Given the description of an element on the screen output the (x, y) to click on. 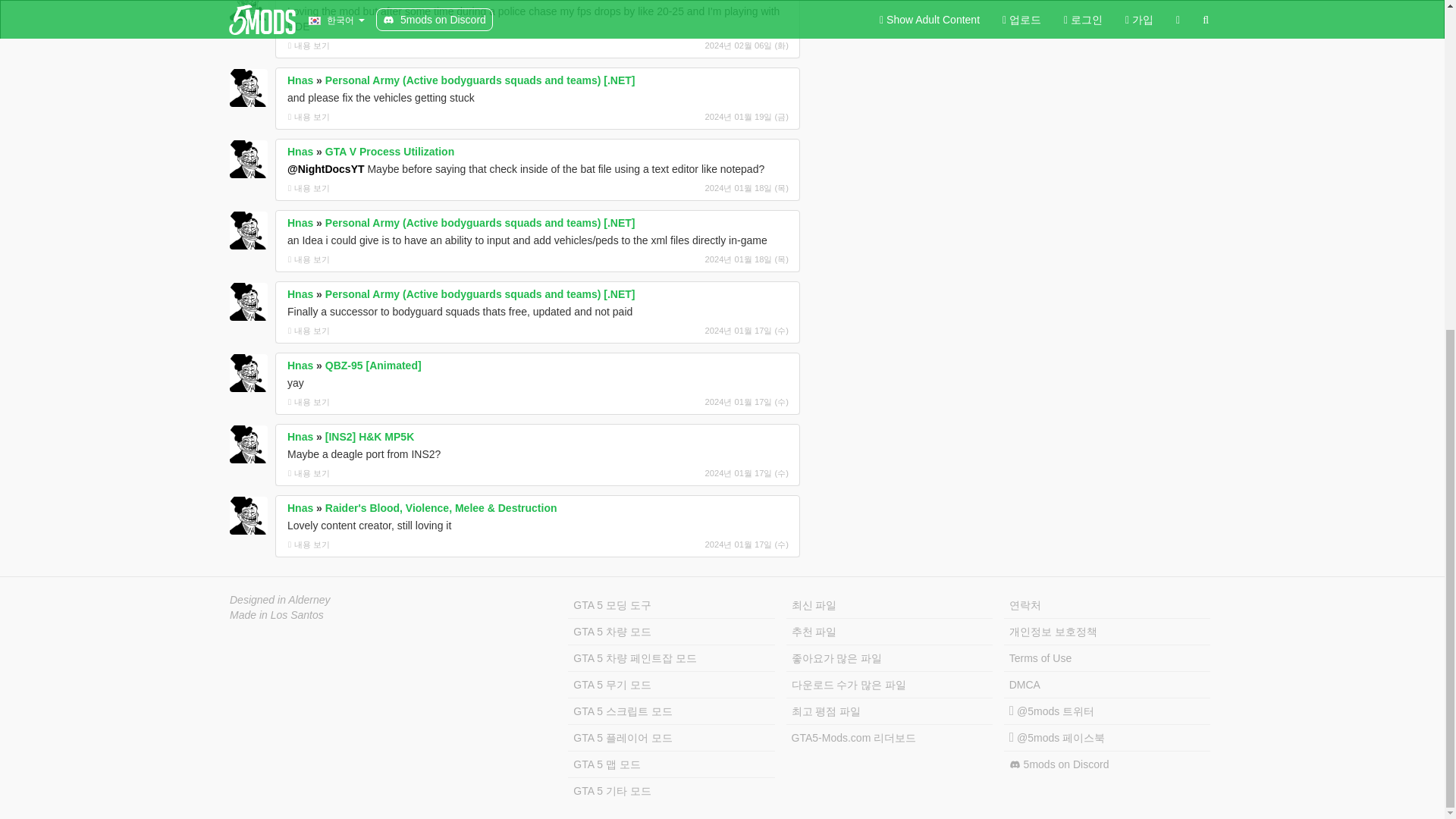
5mods on Discord (1106, 764)
